Given the description of an element on the screen output the (x, y) to click on. 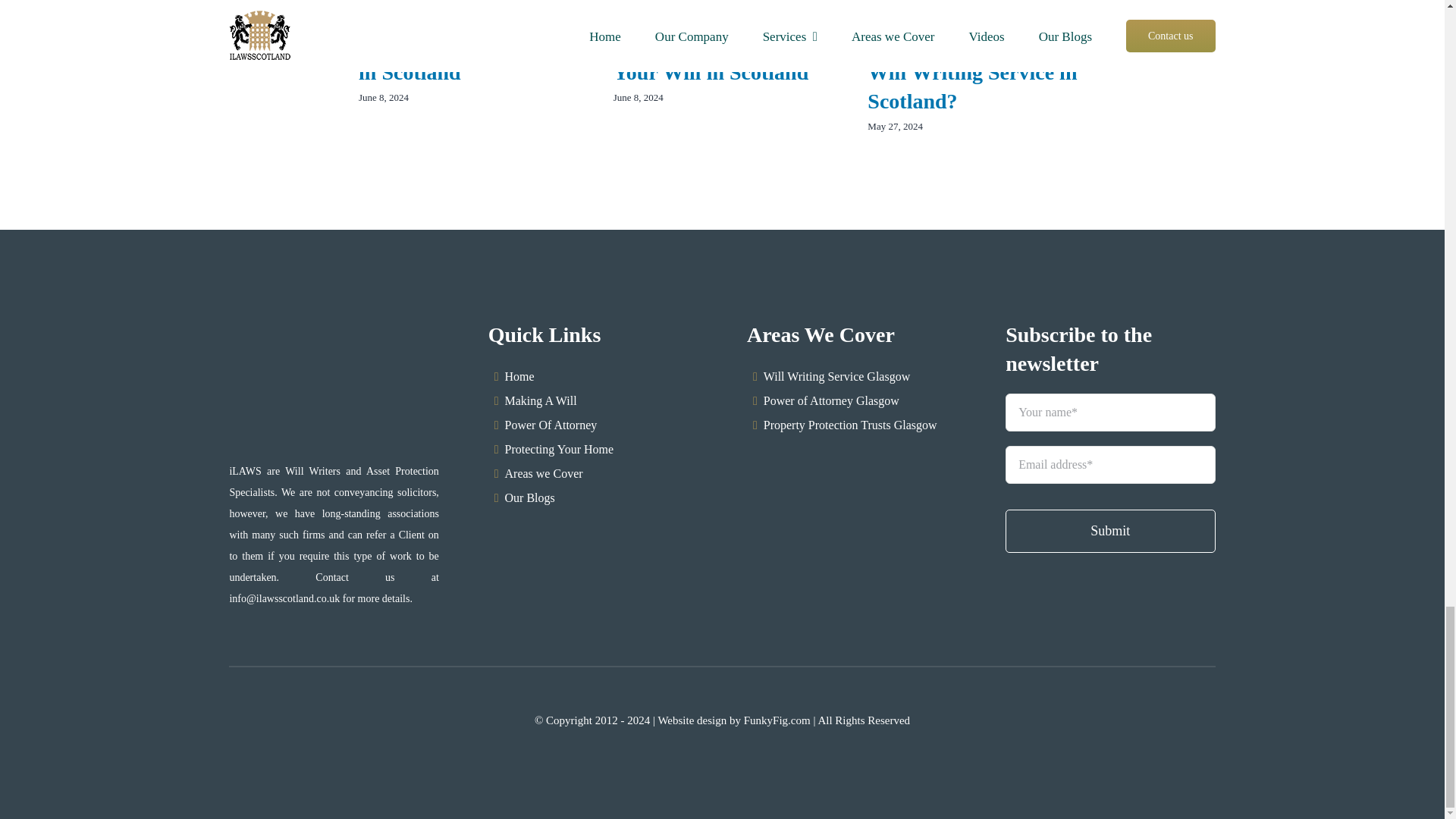
Submit (1110, 480)
A Comprehensive Guide to Making a Will in Scotland (465, 43)
Common Mistakes to Avoid When Making Your Will in Scotland (710, 43)
